Given the description of an element on the screen output the (x, y) to click on. 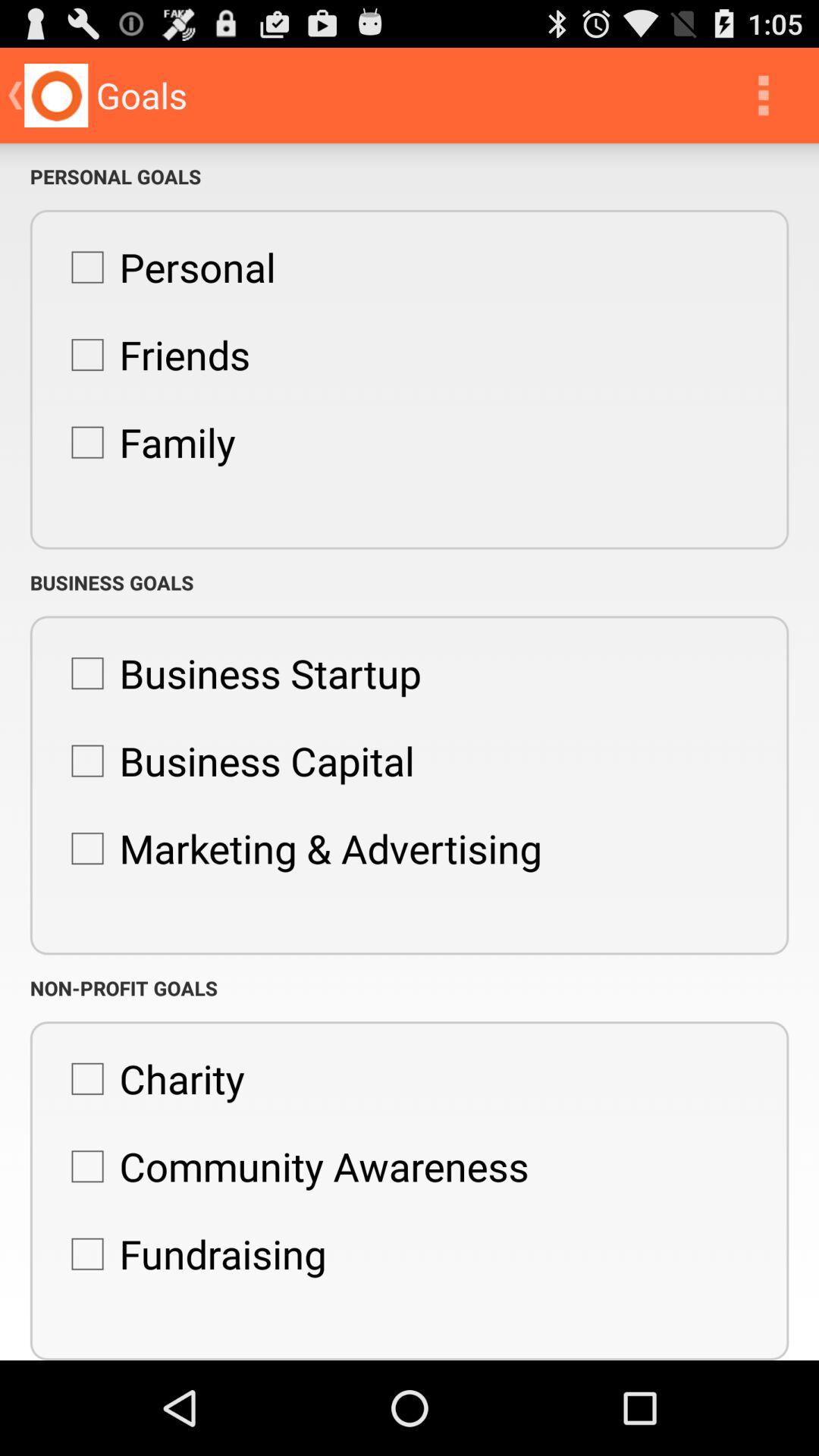
click the icon below the community awareness item (190, 1253)
